Given the description of an element on the screen output the (x, y) to click on. 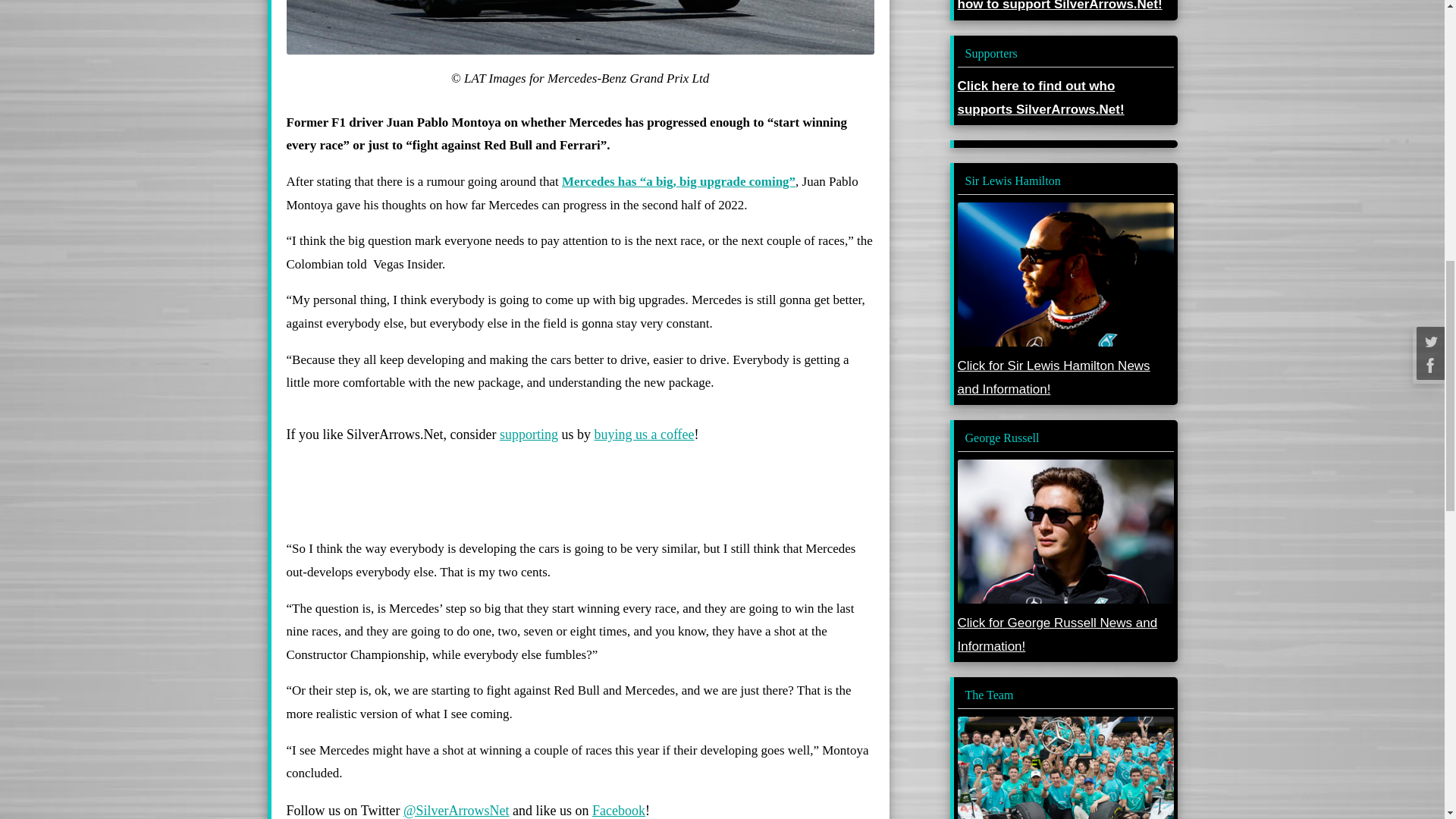
Facebook (618, 810)
supporting (528, 434)
buying us a coffee (644, 434)
